Given the description of an element on the screen output the (x, y) to click on. 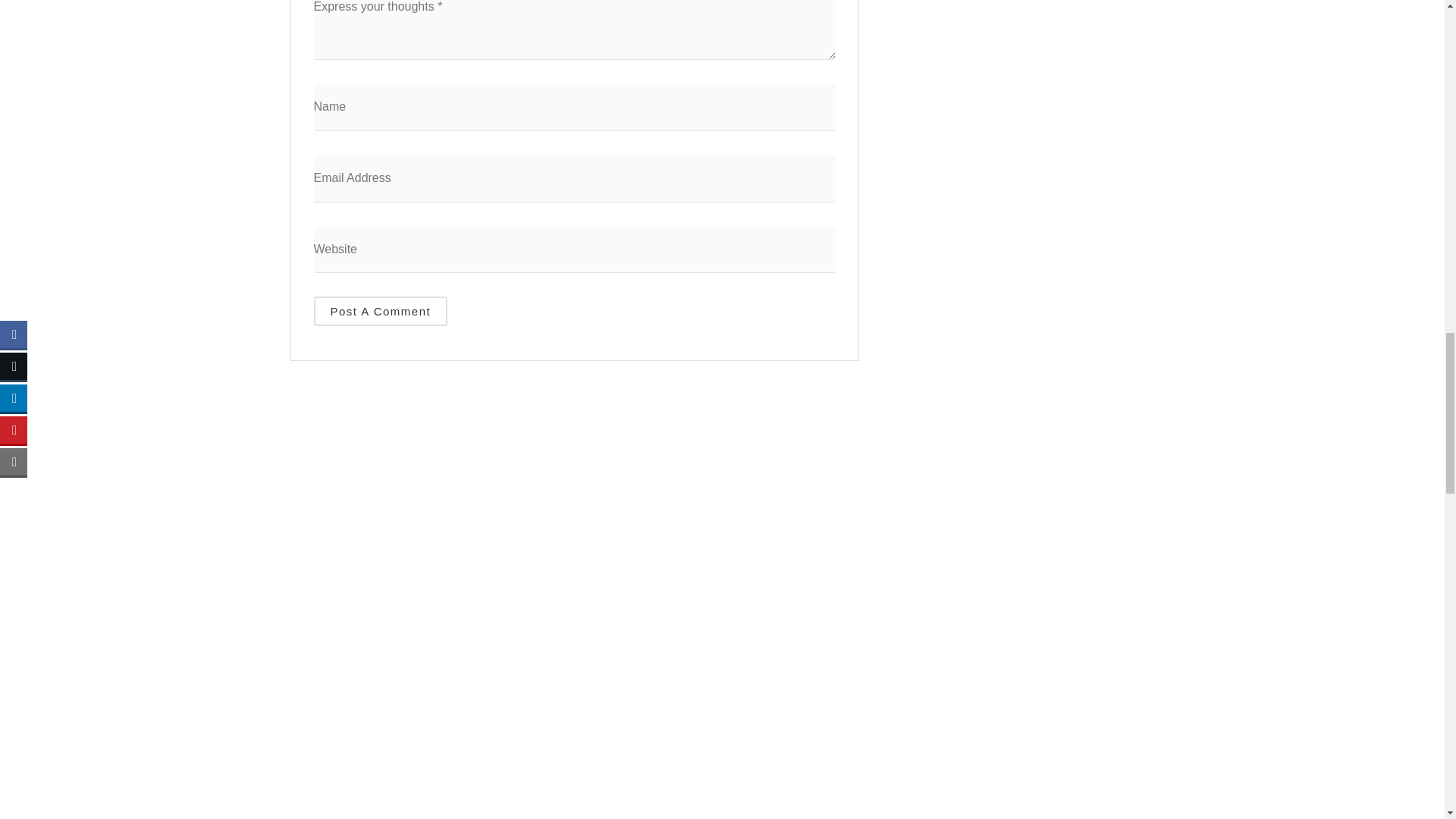
Post A Comment (381, 310)
Post A Comment (381, 310)
